Given the description of an element on the screen output the (x, y) to click on. 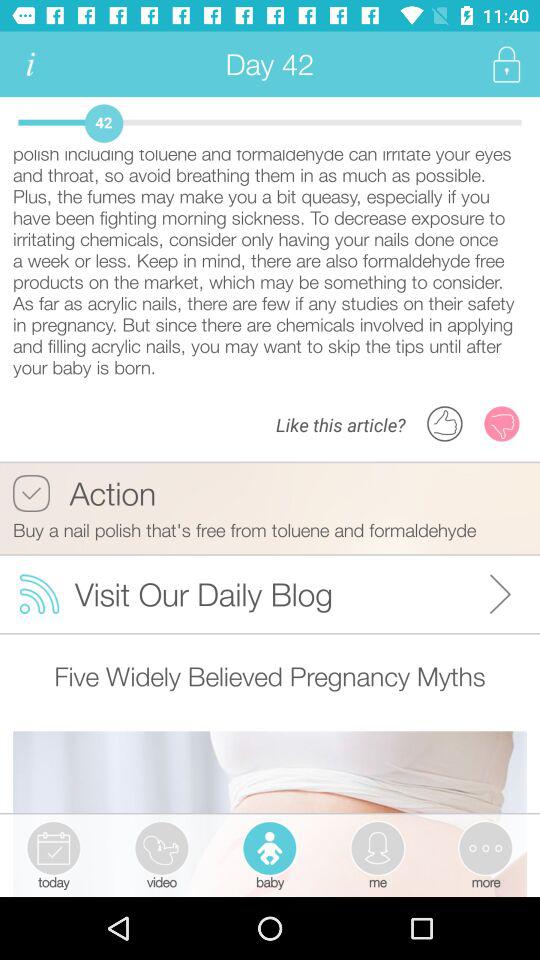
more information (30, 63)
